Given the description of an element on the screen output the (x, y) to click on. 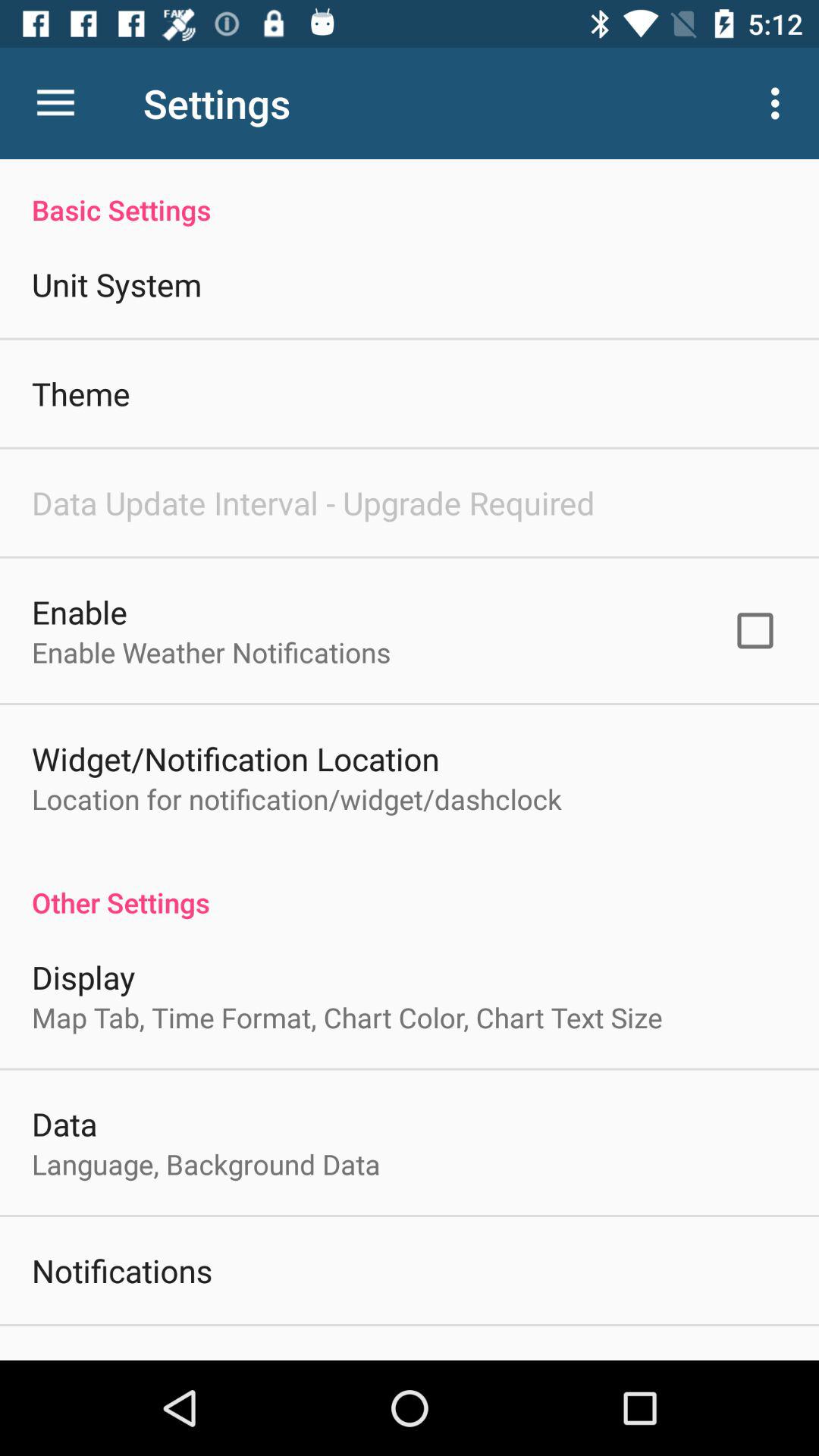
choose basic settings item (409, 193)
